Given the description of an element on the screen output the (x, y) to click on. 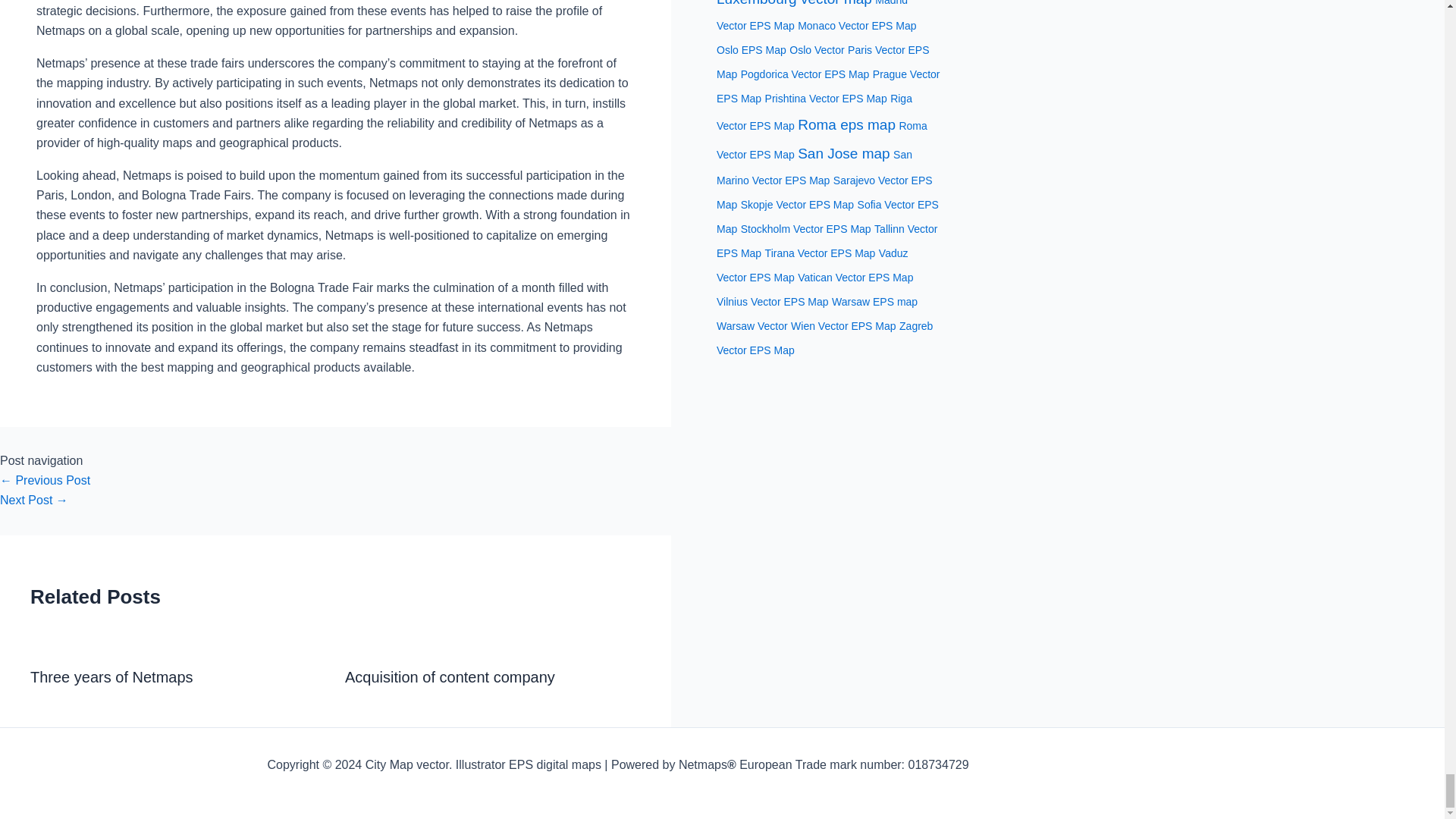
Maps for annual agendas (45, 480)
Atlas for Spain and Mexico (34, 499)
